Given the description of an element on the screen output the (x, y) to click on. 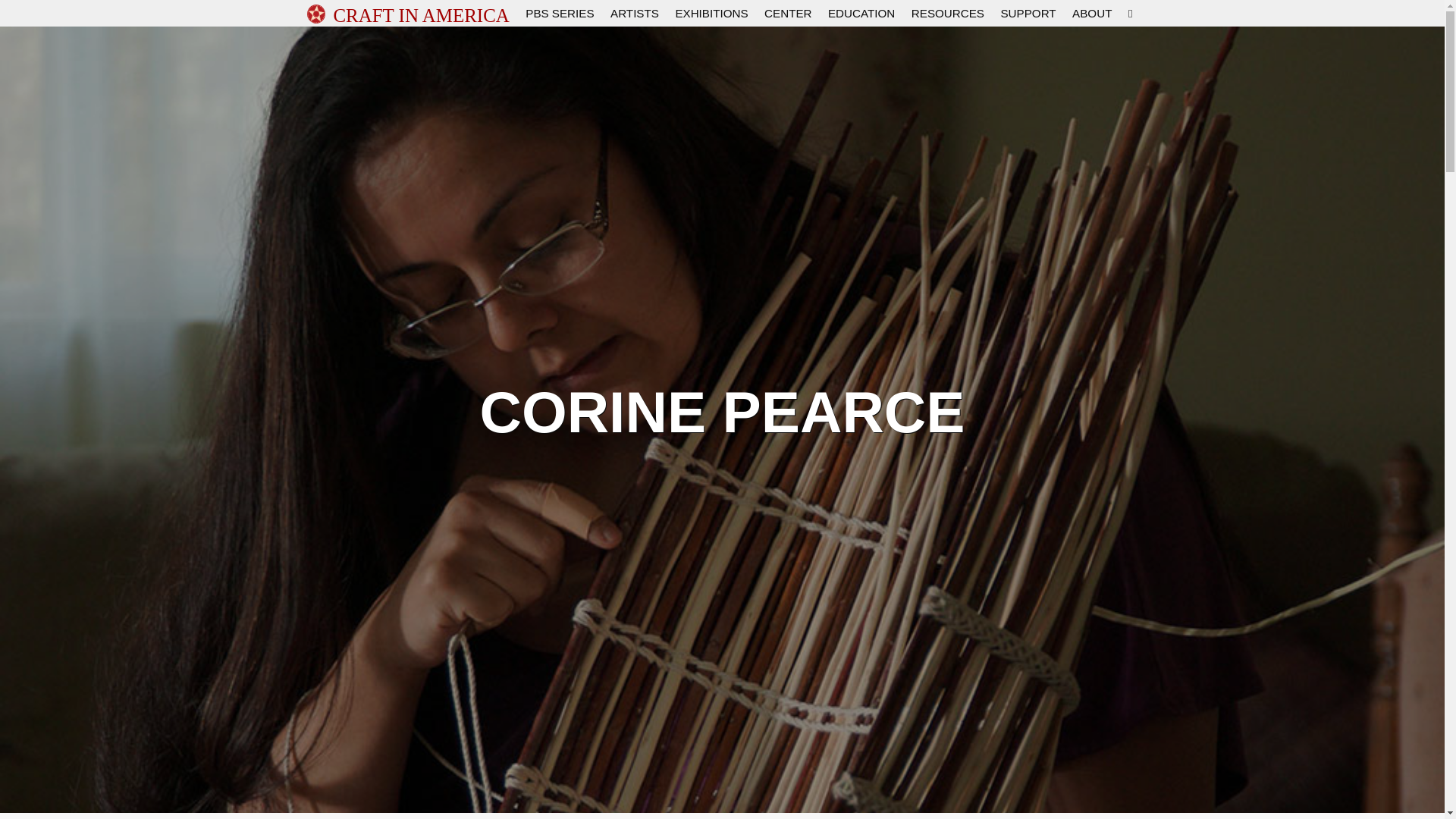
CRAFT IN AMERICA (420, 13)
ARTISTS (634, 12)
CENTER (787, 12)
EXHIBITIONS (711, 12)
PBS SERIES (559, 12)
RESOURCES (947, 12)
ABOUT (1091, 12)
EDUCATION (861, 12)
SUPPORT (1027, 12)
